Given the description of an element on the screen output the (x, y) to click on. 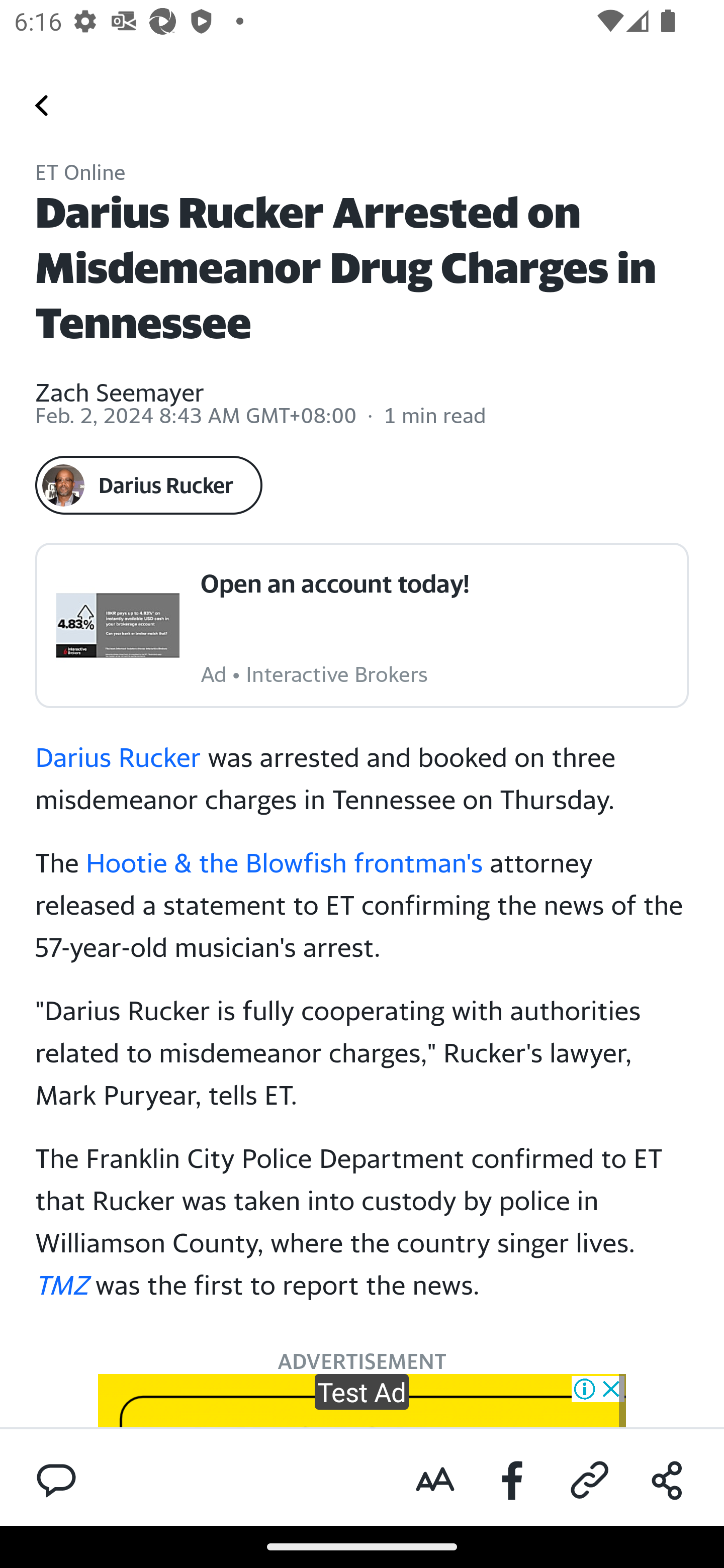
Back (41, 104)
ET Online (80, 174)
Zach Seemayer‍ (119, 379)
Darius Rucker (148, 485)
Darius Rucker (118, 756)
Hootie & the Blowfish frontman's (283, 861)
TMZ (62, 1282)
View Comments (56, 1479)
Font size (435, 1480)
Share link on Facebook (512, 1480)
Copy link (590, 1480)
Share article (667, 1480)
